Given the description of an element on the screen output the (x, y) to click on. 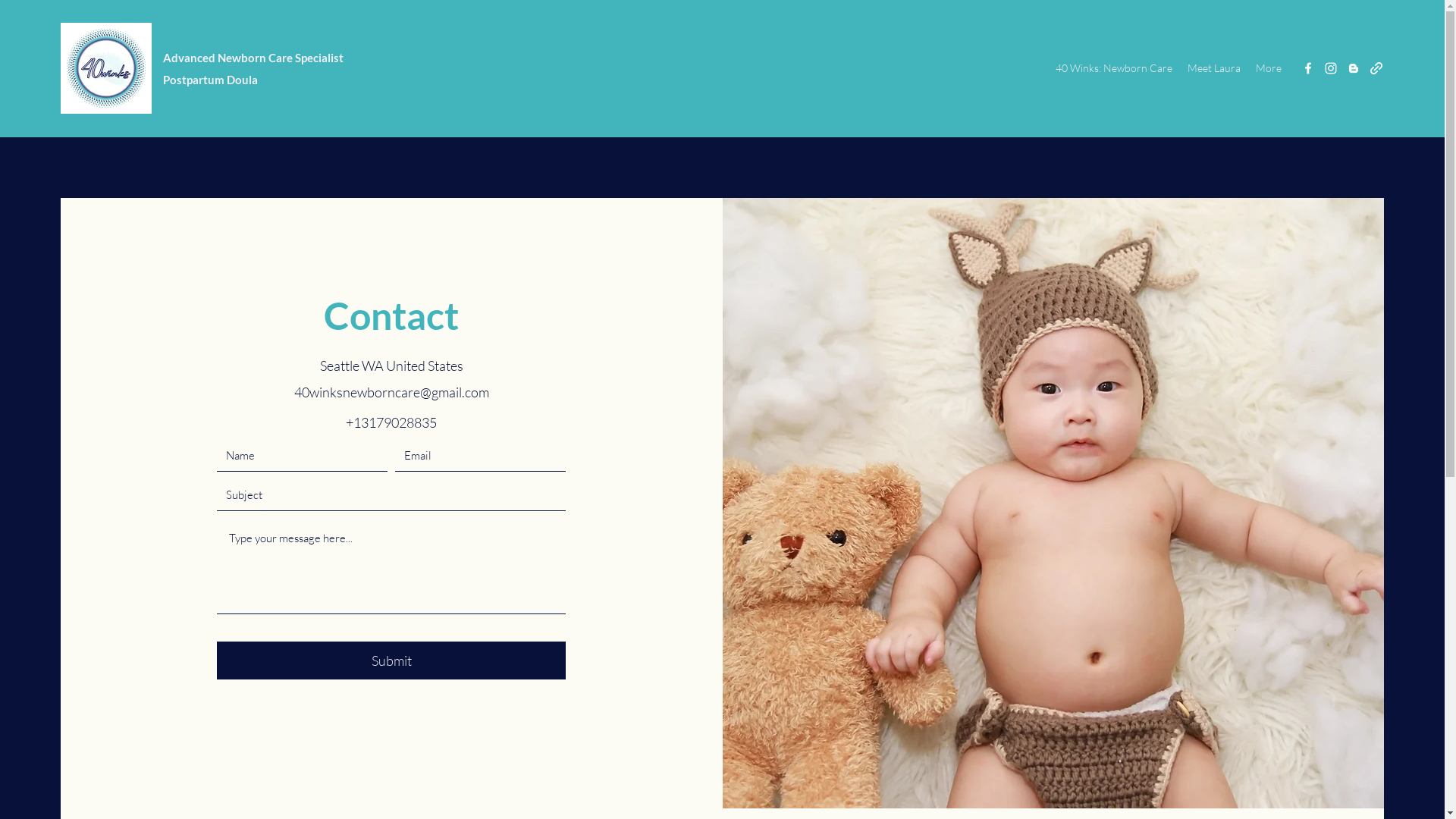
Meet Laura Element type: text (1213, 67)
40 Winks: Newborn Care Element type: text (1113, 67)
40winksnewborncare@gmail.com Element type: text (391, 391)
Submit Element type: text (390, 660)
